Given the description of an element on the screen output the (x, y) to click on. 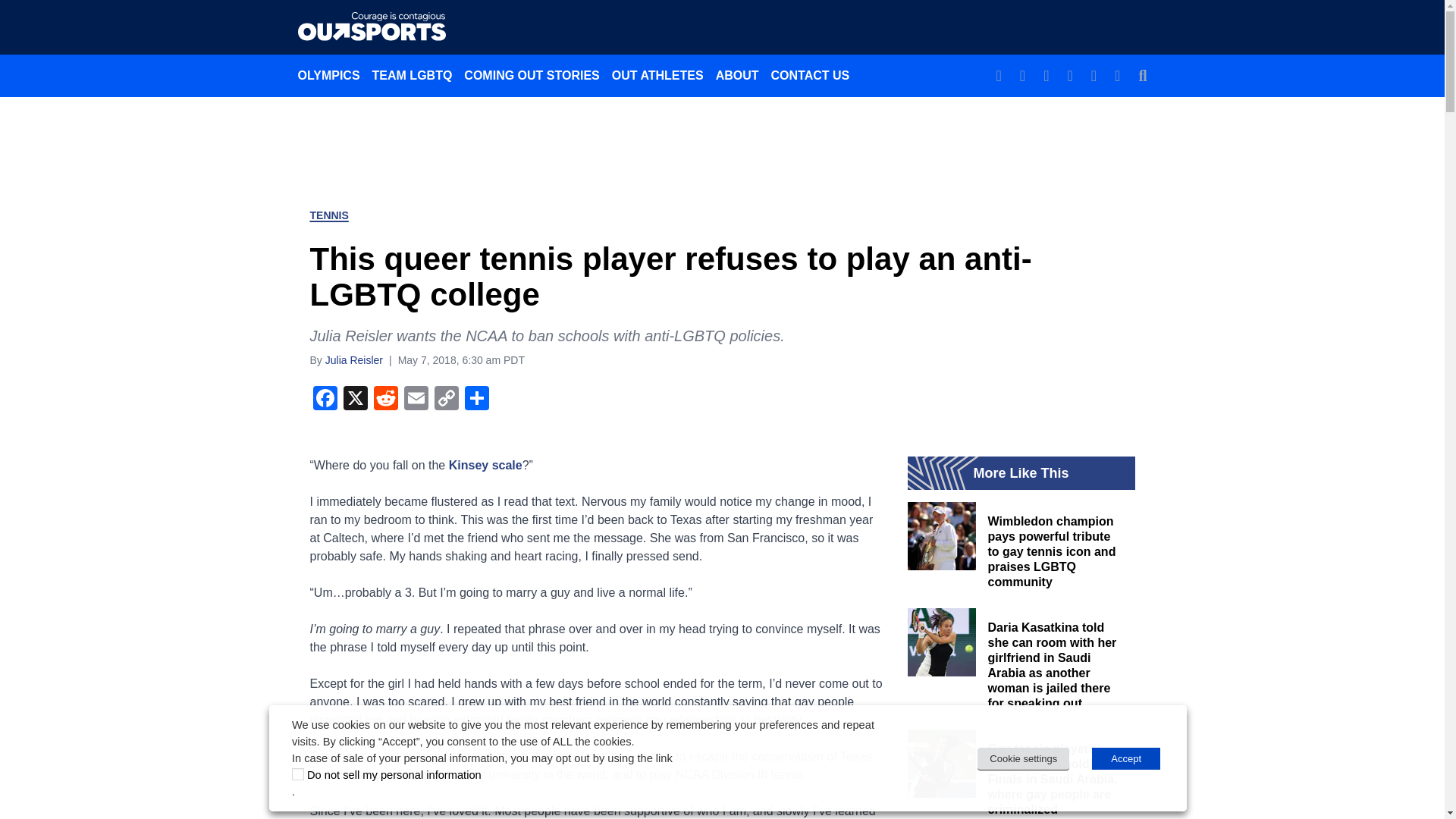
Copy Link (445, 398)
COMING OUT STORIES (531, 75)
Reddit (384, 398)
X (354, 398)
CONTACT US (810, 75)
on (298, 774)
X (354, 398)
Facebook (323, 398)
Email (415, 398)
Kinsey scale (485, 463)
Copy Link (445, 398)
Facebook (323, 398)
ABOUT (737, 75)
Email (415, 398)
